Given the description of an element on the screen output the (x, y) to click on. 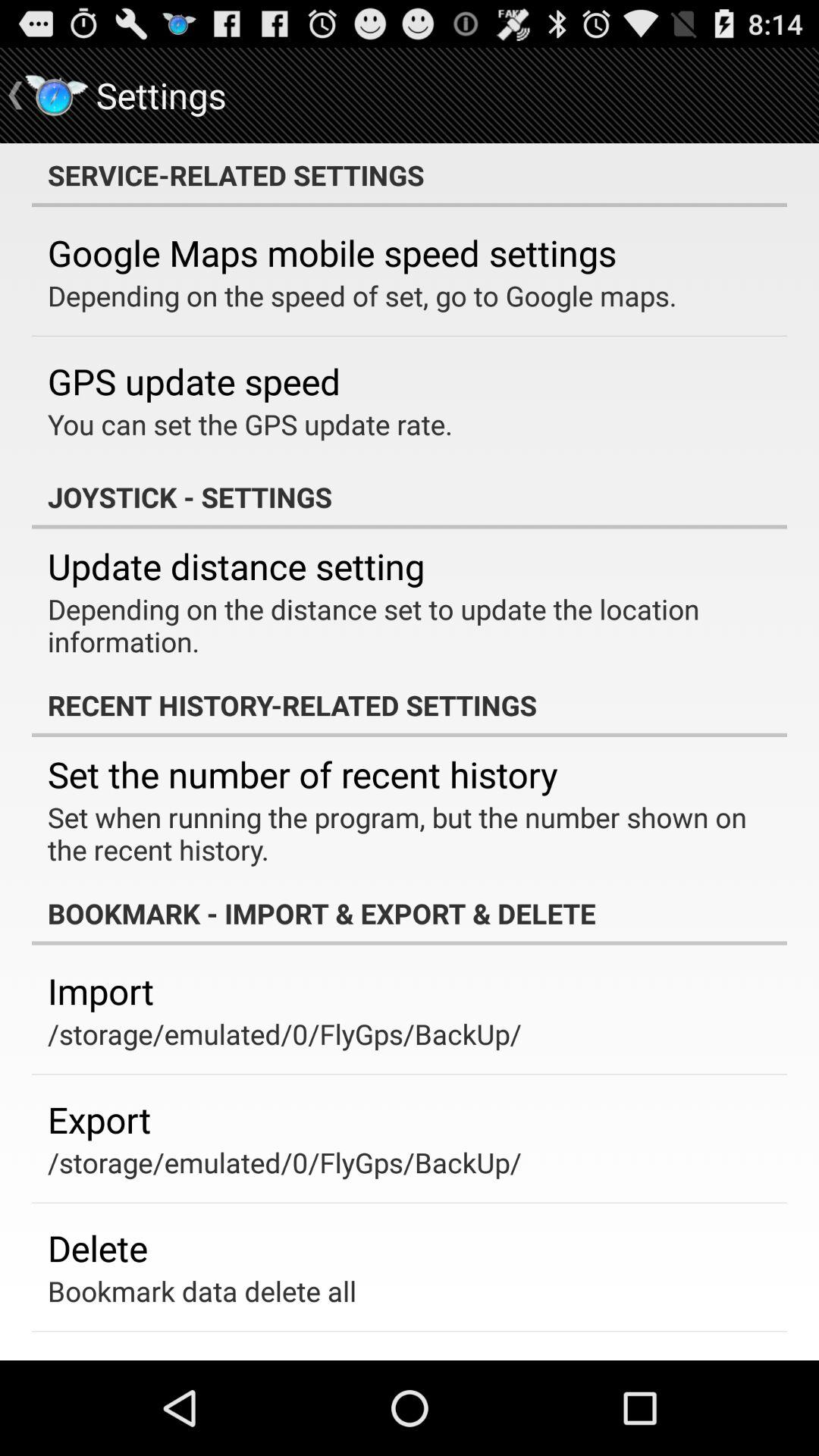
launch app below gps update speed icon (249, 424)
